Given the description of an element on the screen output the (x, y) to click on. 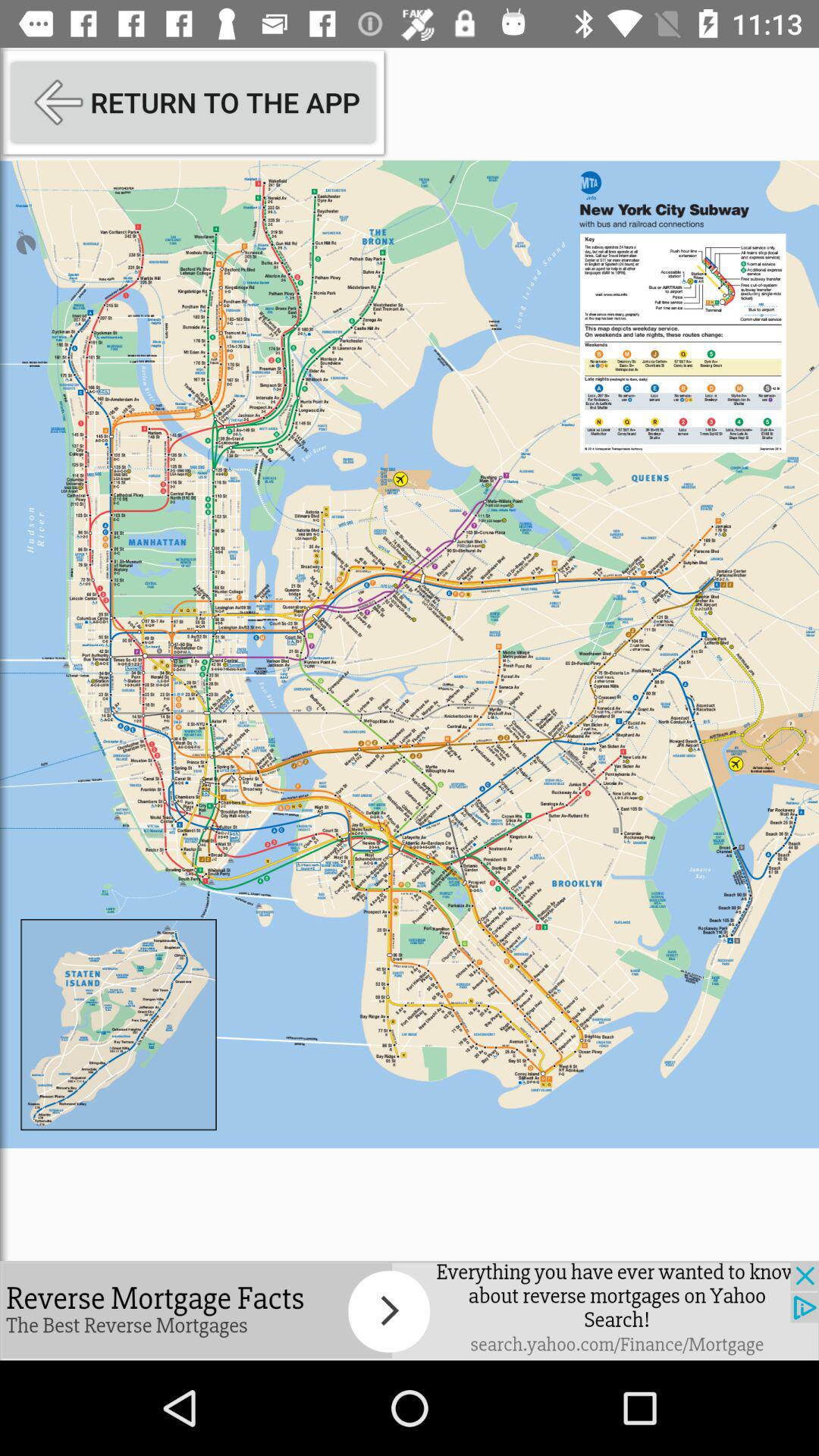
advertisement (409, 1310)
